Given the description of an element on the screen output the (x, y) to click on. 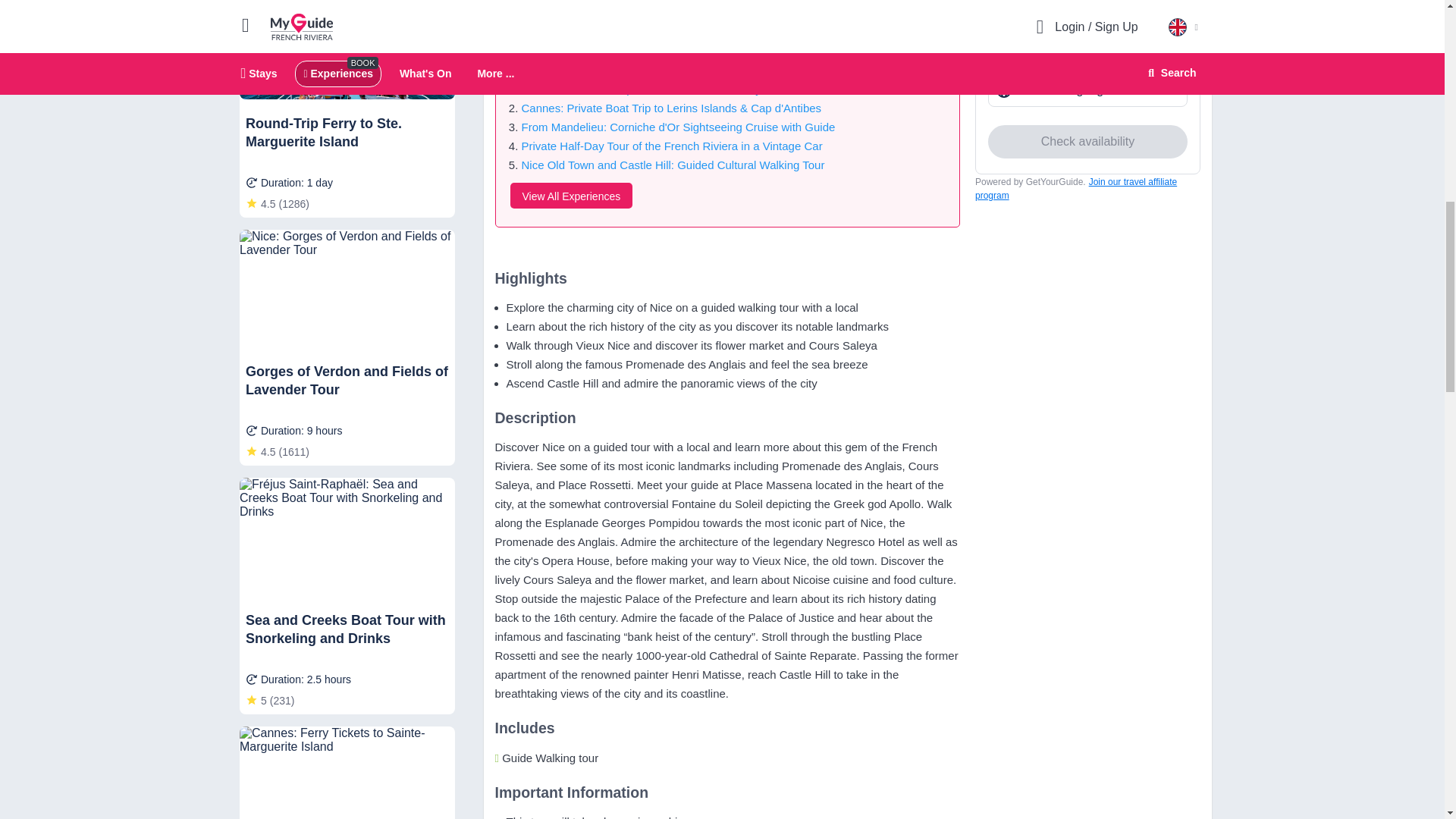
View All Experiences (570, 195)
GetYourGuide Widget (1087, 106)
